Given the description of an element on the screen output the (x, y) to click on. 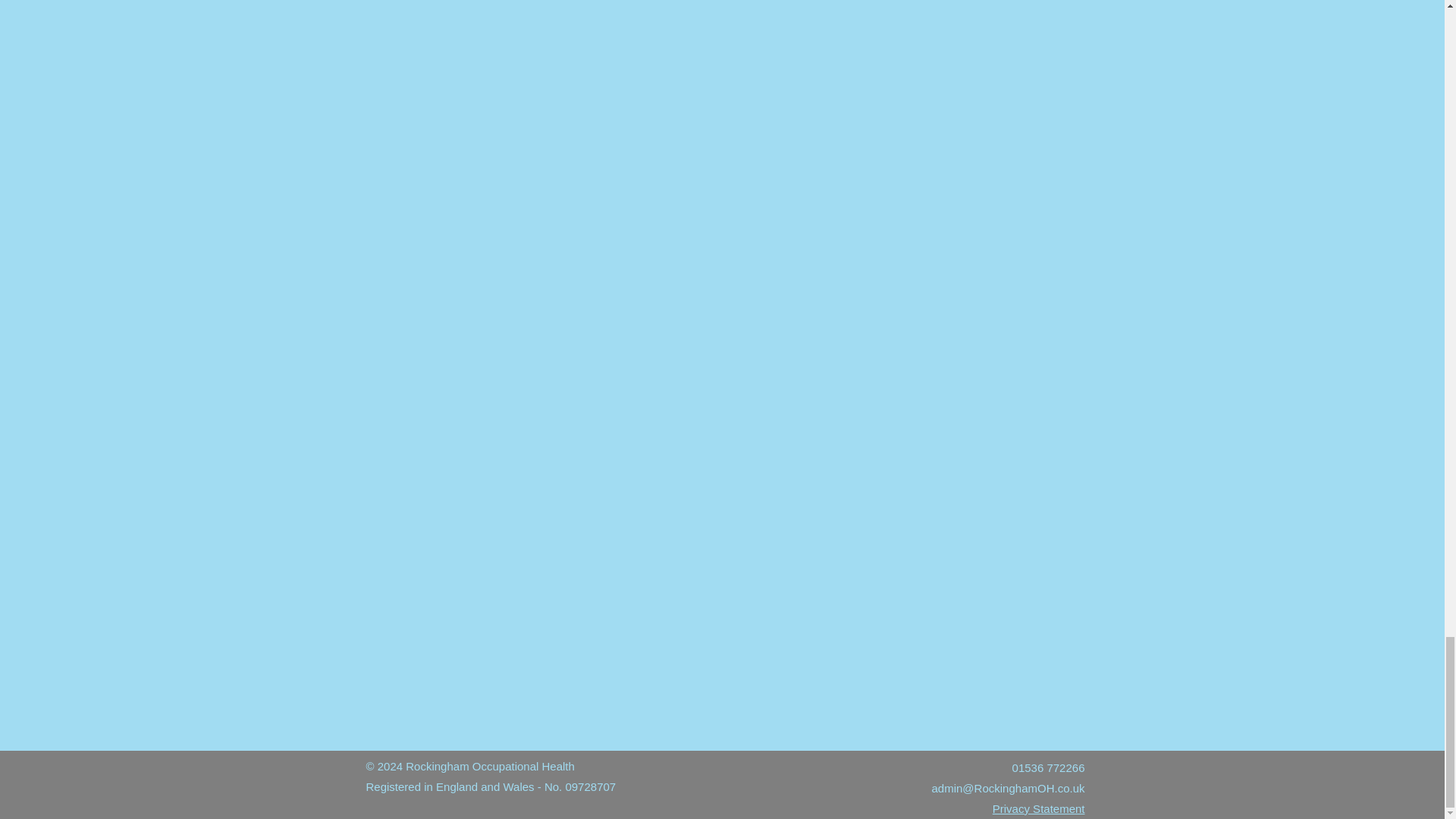
Privacy Statement (1038, 808)
